Given the description of an element on the screen output the (x, y) to click on. 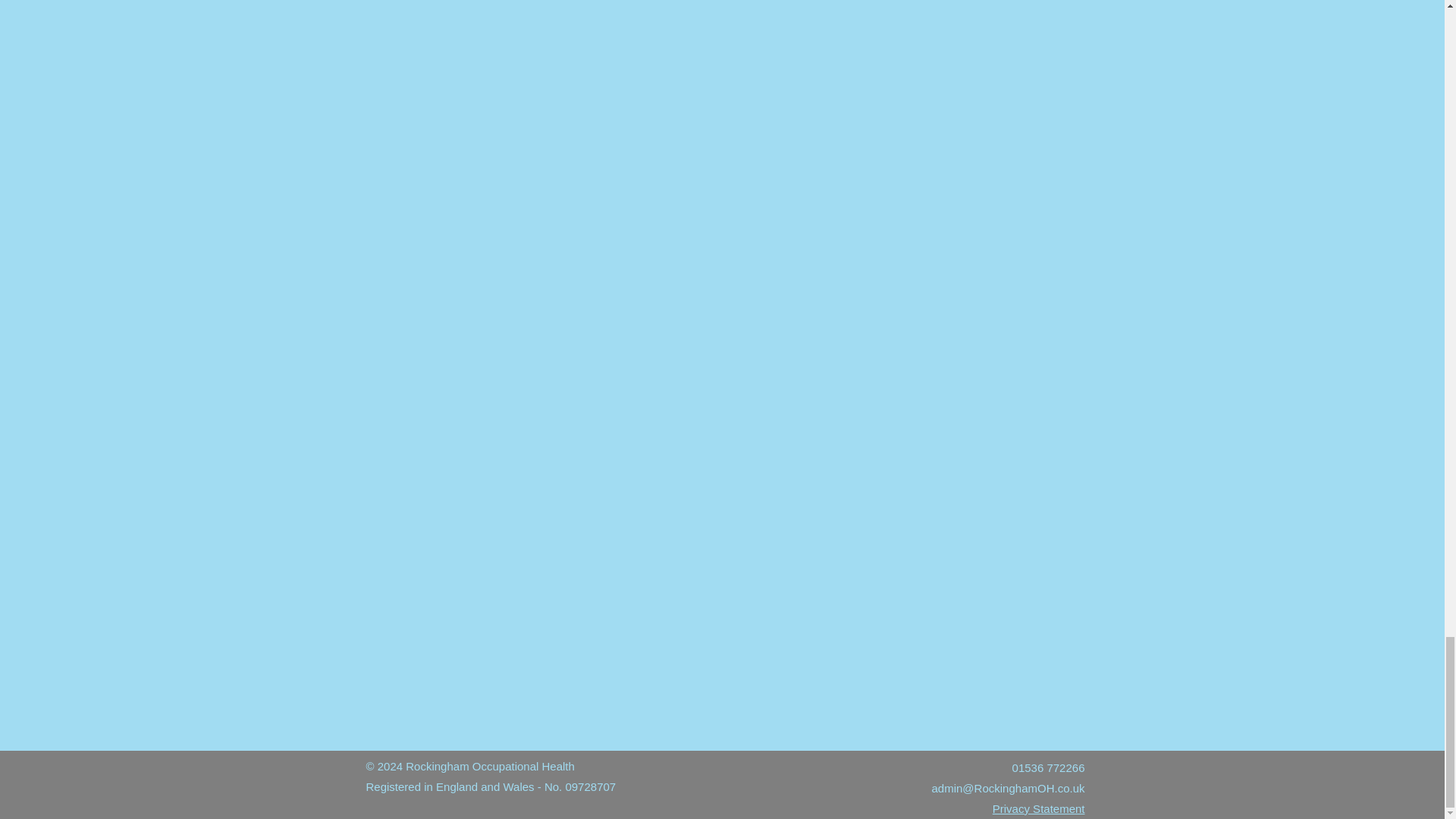
Privacy Statement (1038, 808)
